Given the description of an element on the screen output the (x, y) to click on. 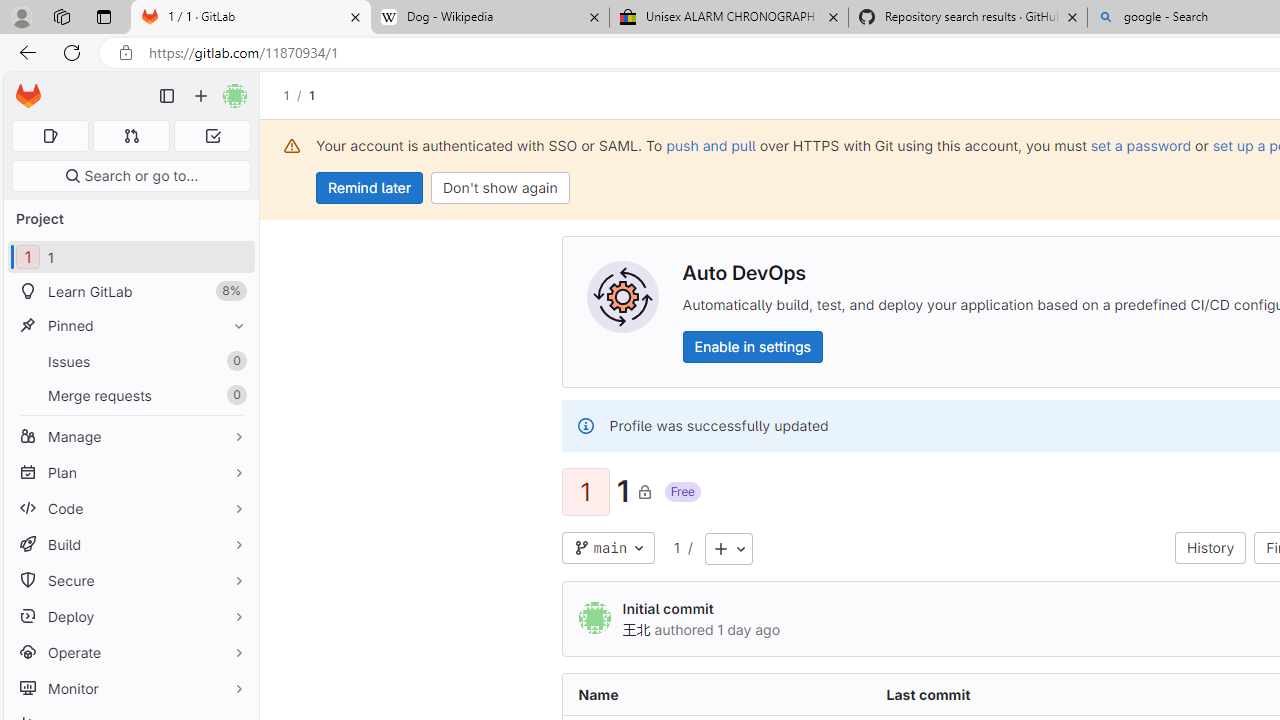
Manage (130, 435)
1 1 (130, 257)
1 (676, 547)
Class: s16 icon (644, 491)
Merge requests 0 (130, 394)
Add to tree (728, 548)
View site information (125, 53)
Create new... (201, 96)
Tab actions menu (104, 16)
Dog - Wikipedia (490, 17)
1/ (296, 95)
push and pull (710, 145)
Monitor (130, 687)
